Given the description of an element on the screen output the (x, y) to click on. 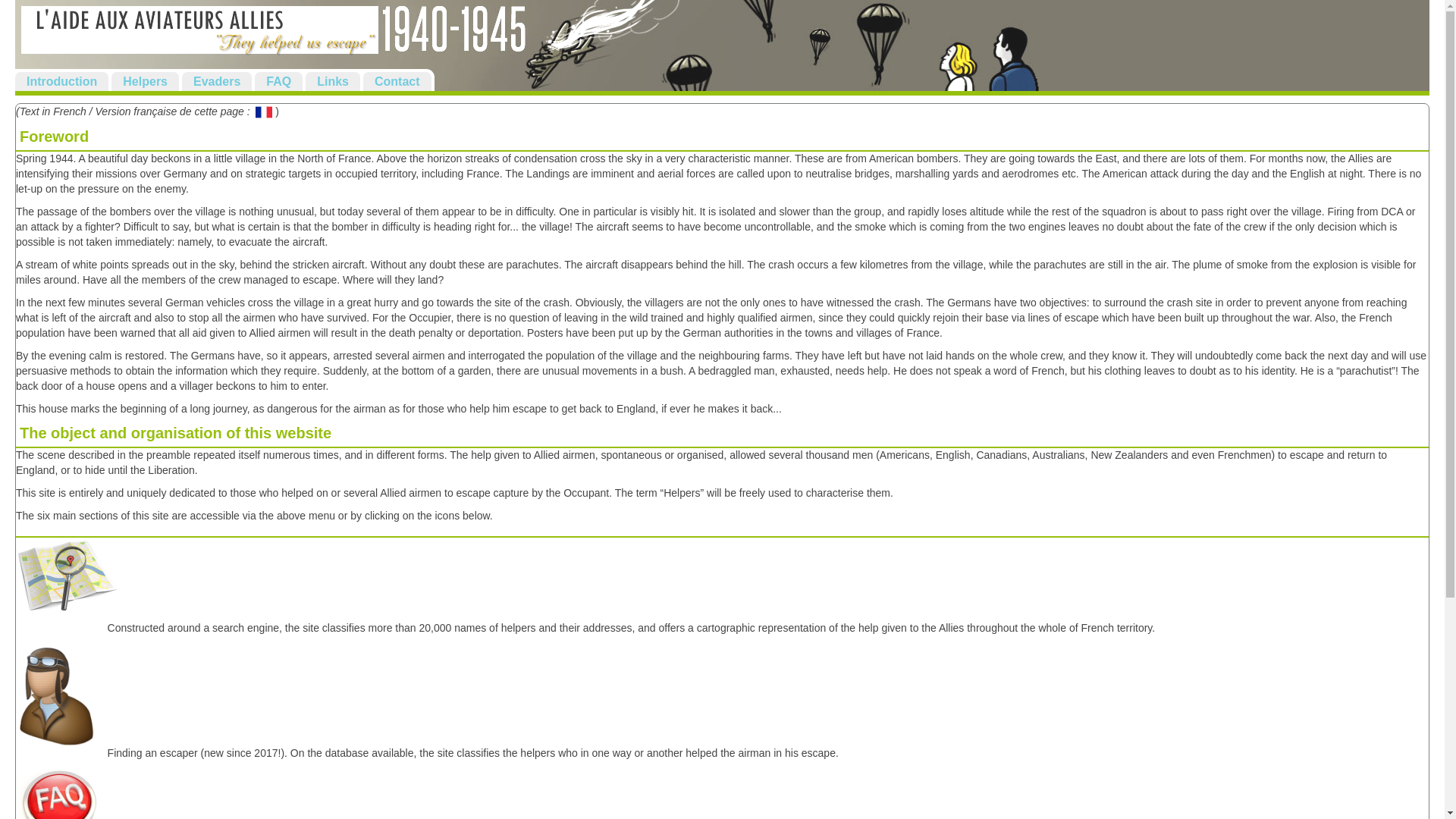
Helpers (145, 81)
Contact (396, 81)
Introduction (60, 81)
FAQ (278, 81)
Evaders (216, 81)
Links (332, 81)
